Given the description of an element on the screen output the (x, y) to click on. 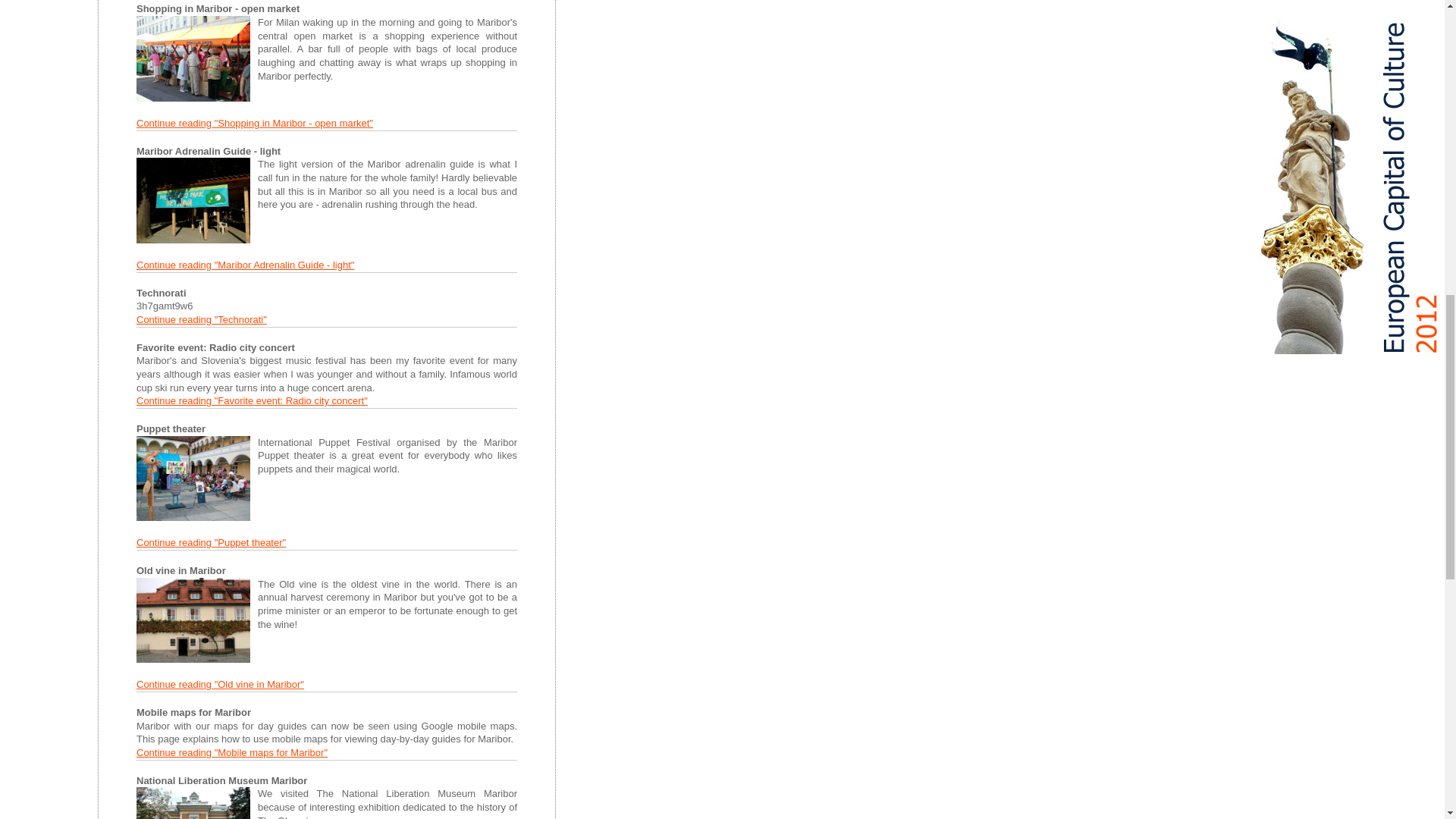
Continue reading "Maribor Adrenalin Guide - light" (244, 265)
Continue reading "Technorati" (201, 319)
Continue reading "Mobile maps for Maribor" (231, 752)
Continue reading "Shopping in Maribor - open market" (254, 122)
Continue reading "Puppet theater" (210, 542)
Continue reading "Old vine in Maribor" (220, 684)
Continue reading "Favorite event: Radio city concert" (252, 400)
